Given the description of an element on the screen output the (x, y) to click on. 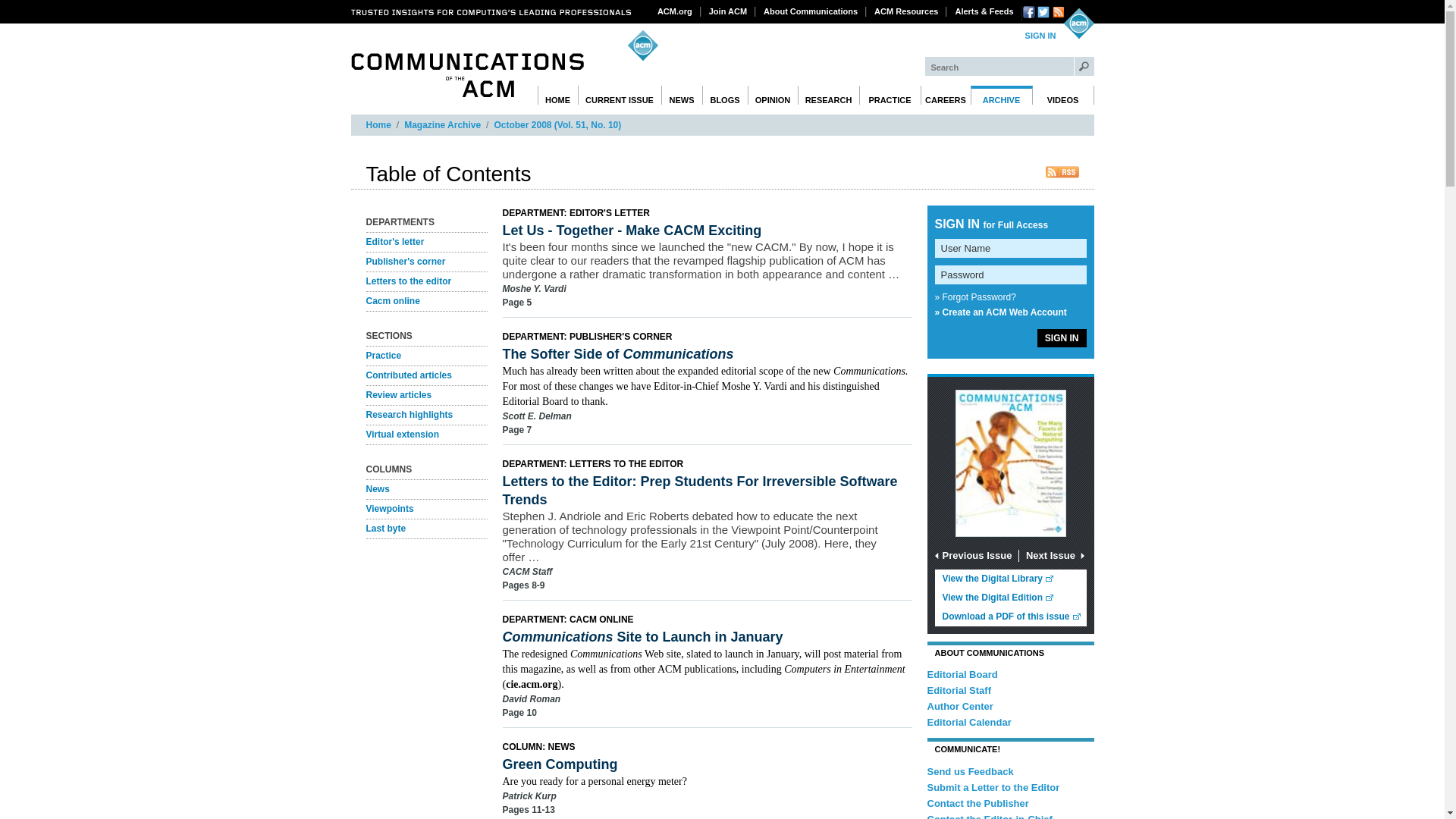
RESEARCH (828, 94)
About Communications (810, 11)
PRACTICE (889, 94)
ACM Resources (906, 11)
ACM.org (674, 11)
CAREERS (945, 94)
ACM (1077, 23)
Join ACM (727, 11)
About Communications (810, 11)
HOME (557, 94)
ACM (1077, 23)
Login (1041, 35)
Go (1084, 66)
ACM Resources (906, 11)
Communications of the ACM (466, 75)
